Given the description of an element on the screen output the (x, y) to click on. 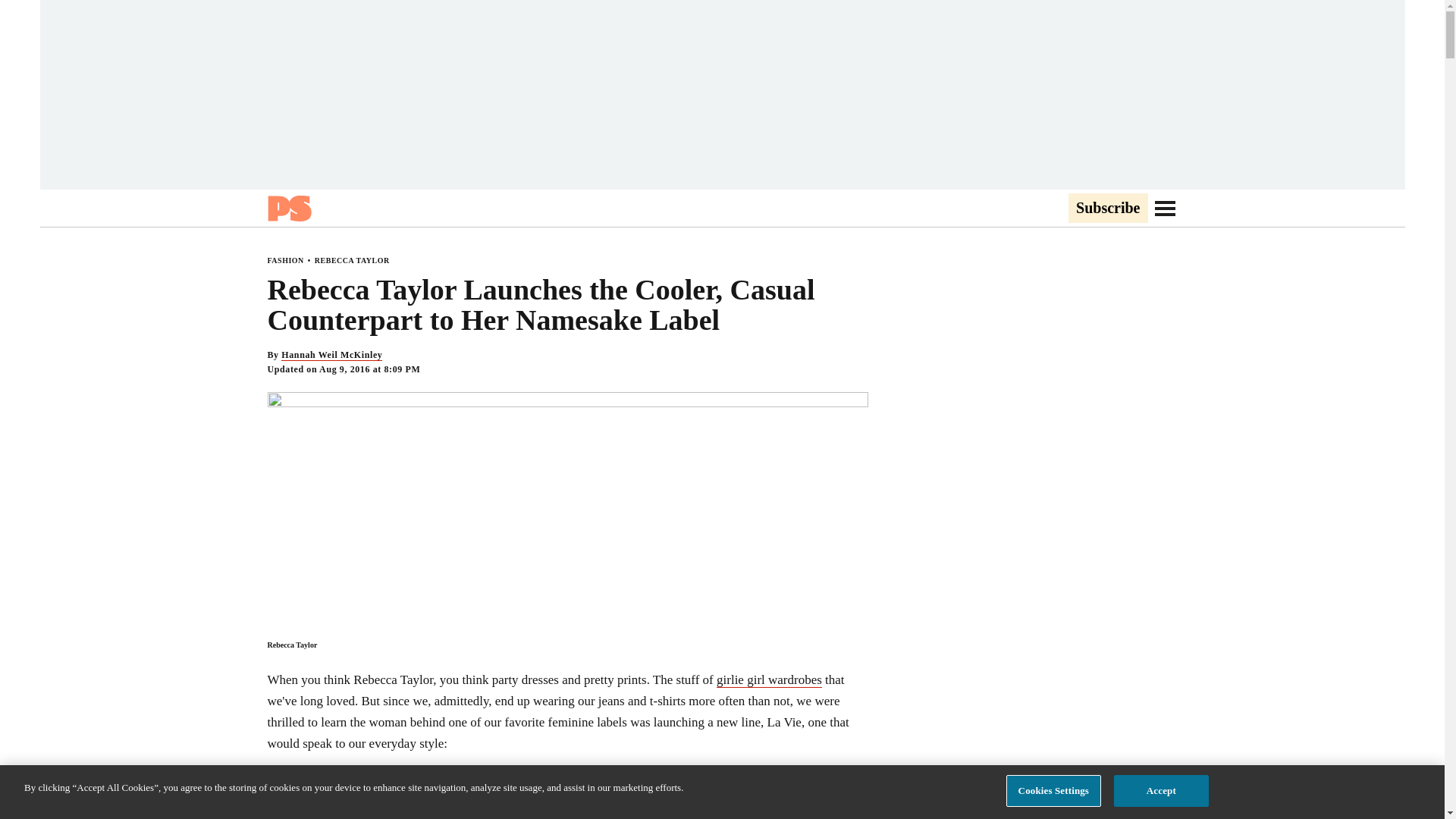
FASHION (284, 260)
Hannah Weil McKinley (331, 355)
Go to Navigation (1164, 207)
Go to Navigation (1164, 207)
REBECCA TAYLOR (352, 260)
Popsugar (288, 208)
Subscribe (1107, 208)
girlie girl wardrobes (769, 679)
